Given the description of an element on the screen output the (x, y) to click on. 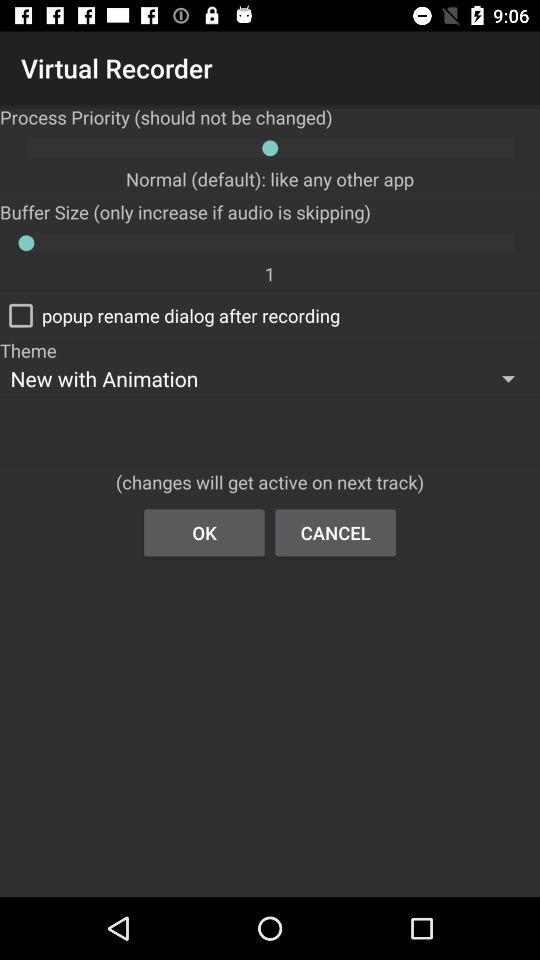
turn off icon to the left of the cancel (204, 532)
